Given the description of an element on the screen output the (x, y) to click on. 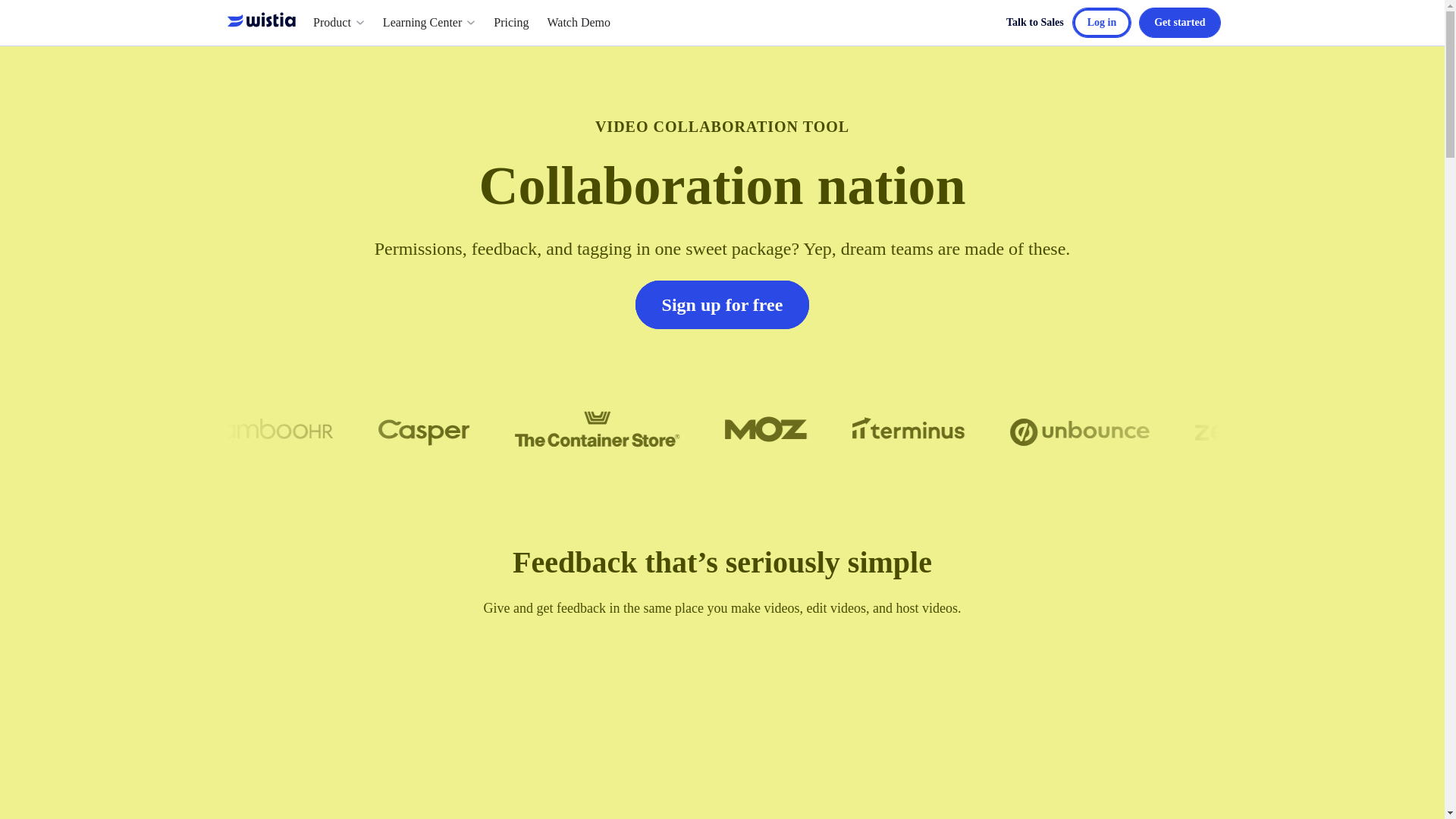
Log in (1102, 22)
Get started (1180, 22)
Wistia (264, 22)
Wistia (261, 19)
Sign up for free (721, 304)
